Given the description of an element on the screen output the (x, y) to click on. 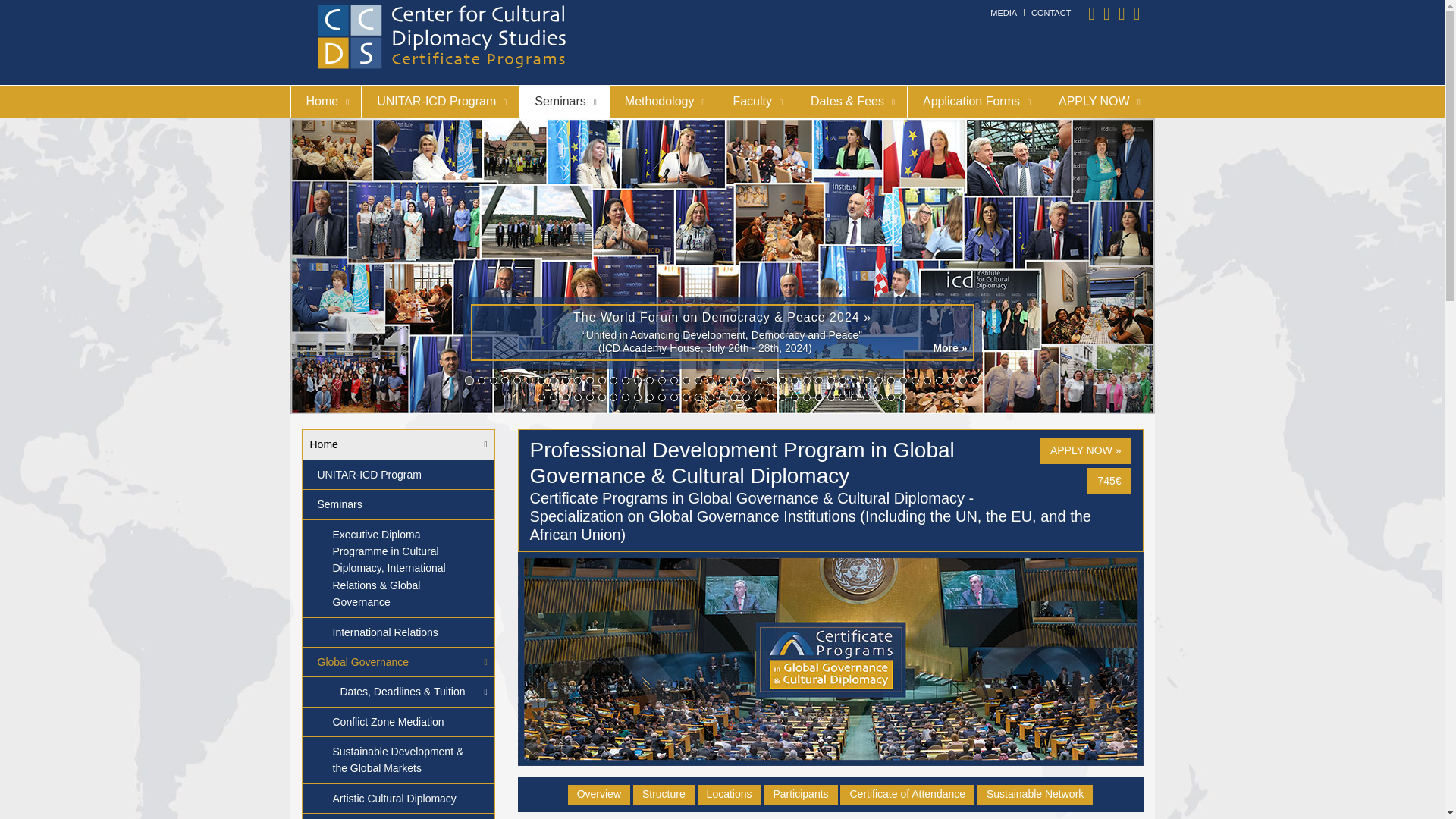
Methodology (663, 101)
International Relations (397, 632)
Faculty (755, 101)
Application Forms (974, 101)
UNITAR-ICD Program (397, 474)
Home (397, 444)
CONTACT (1050, 12)
UNITAR-ICD Program (439, 101)
Application Forms (974, 101)
Seminars (397, 504)
